Given the description of an element on the screen output the (x, y) to click on. 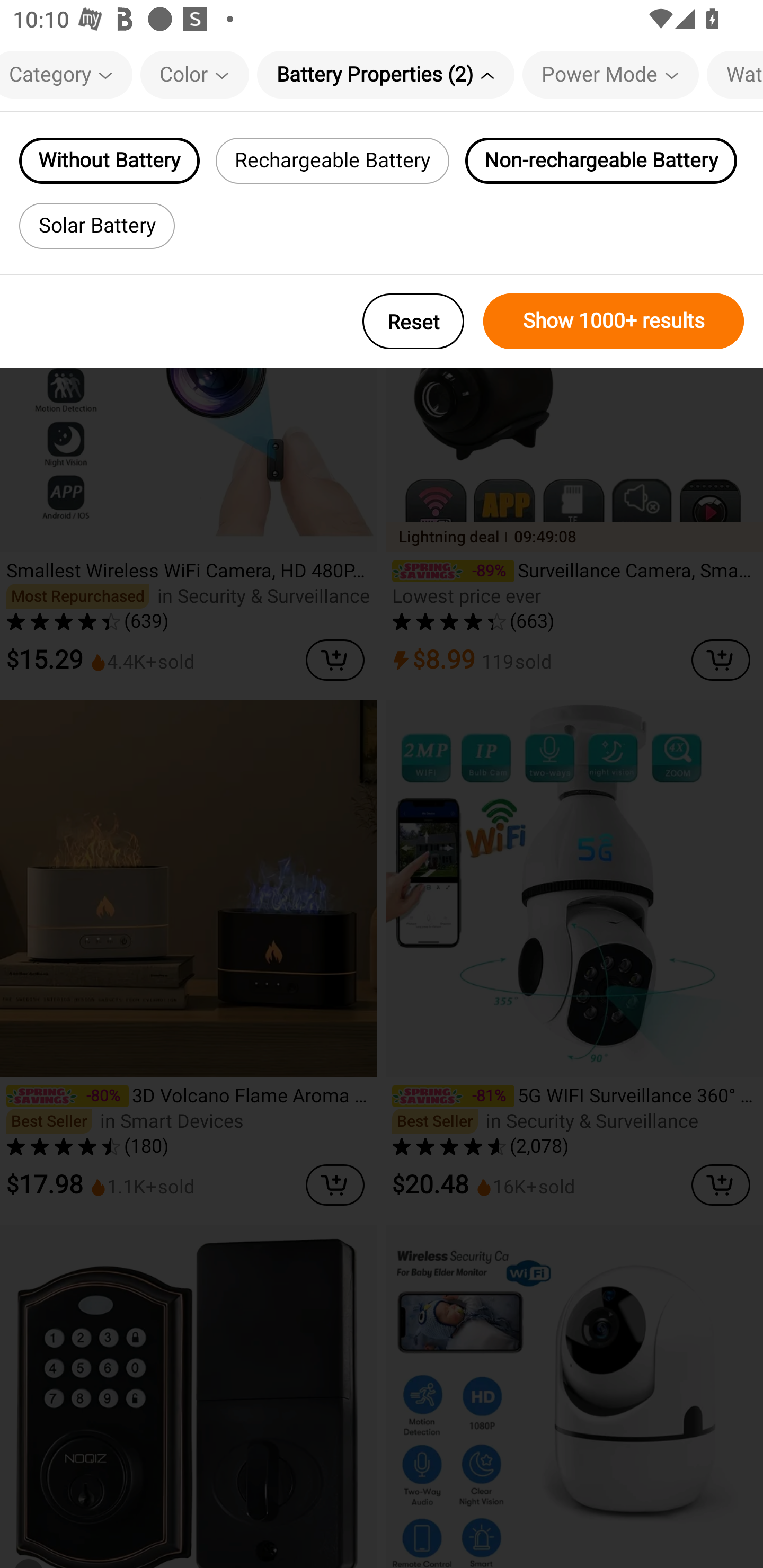
Category (66, 74)
Color (194, 74)
Battery Properties (2) (385, 74)
Power Mode (610, 74)
Without Battery (109, 160)
Rechargeable Battery (332, 160)
Non-rechargeable Battery (601, 160)
Solar Battery (96, 225)
Reset (412, 321)
Show 1000+ results (612, 321)
